Given the description of an element on the screen output the (x, y) to click on. 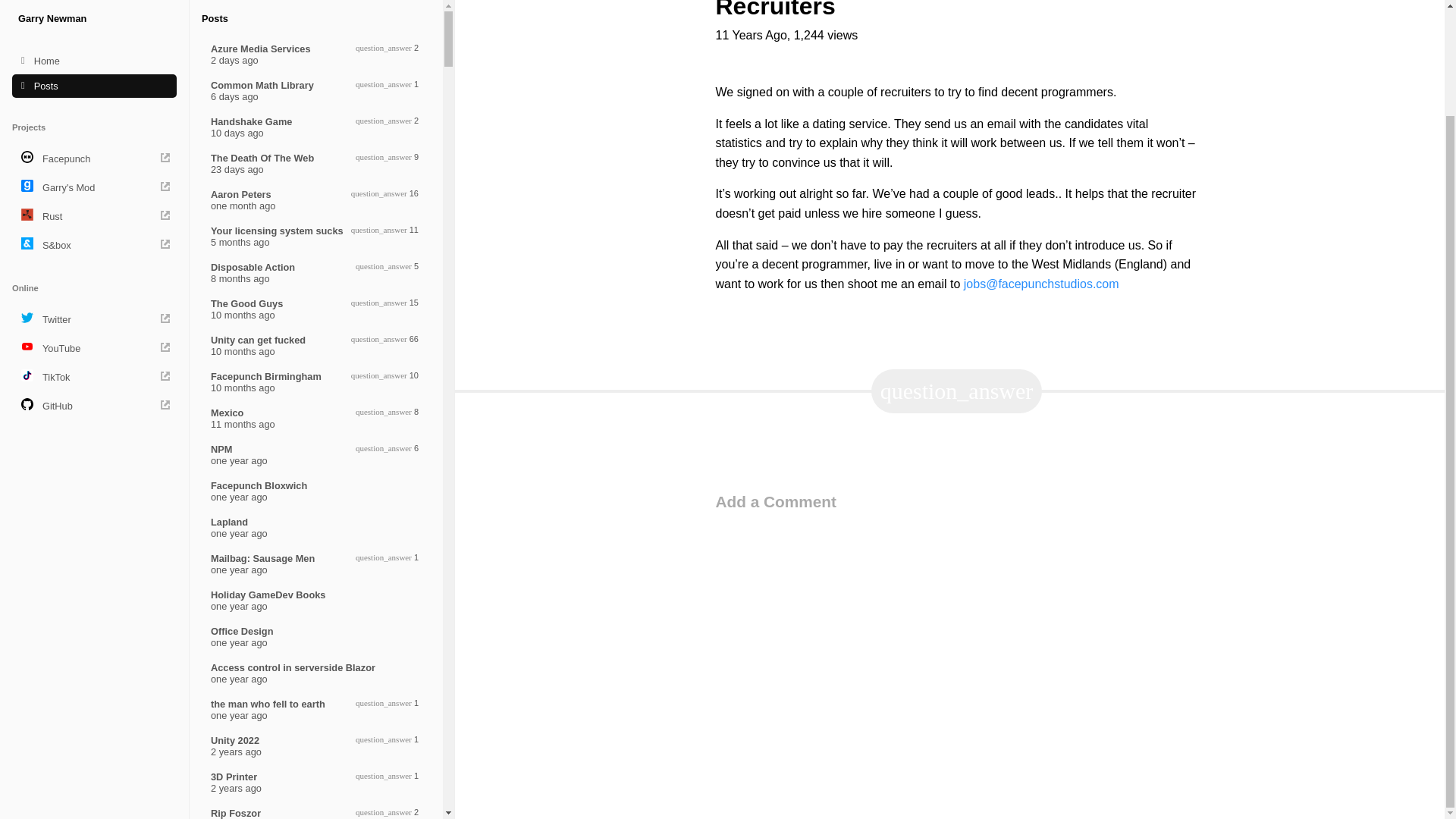
TikTok (93, 252)
Twitter-color Created with Sketch. (27, 193)
Rust (93, 92)
YouTube (93, 224)
Facepunch (93, 34)
Wednesday, March 20, 2013 8:32:50 AM (93, 195)
Comments (316, 549)
GitHub (316, 513)
